Given the description of an element on the screen output the (x, y) to click on. 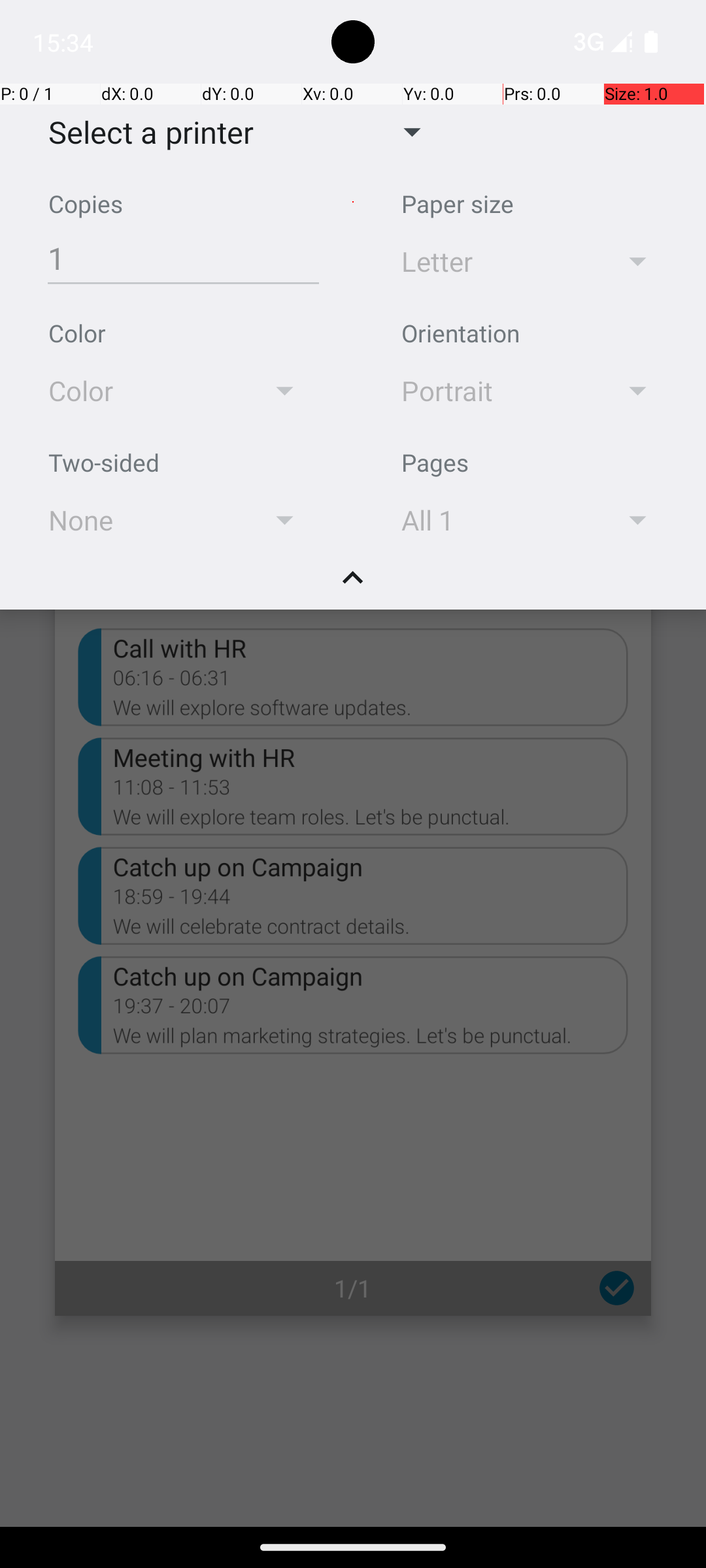
Copies Element type: android.widget.TextView (85, 203)
Paper size Element type: android.widget.TextView (457, 203)
Orientation Element type: android.widget.TextView (460, 332)
Two-sided Element type: android.widget.TextView (103, 461)
Pages Element type: android.widget.TextView (434, 461)
Collapse handle Element type: android.widget.FrameLayout (353, 585)
Portrait Element type: android.widget.CheckedTextView (491, 390)
All 1 Element type: android.widget.CheckedTextView (491, 519)
